Given the description of an element on the screen output the (x, y) to click on. 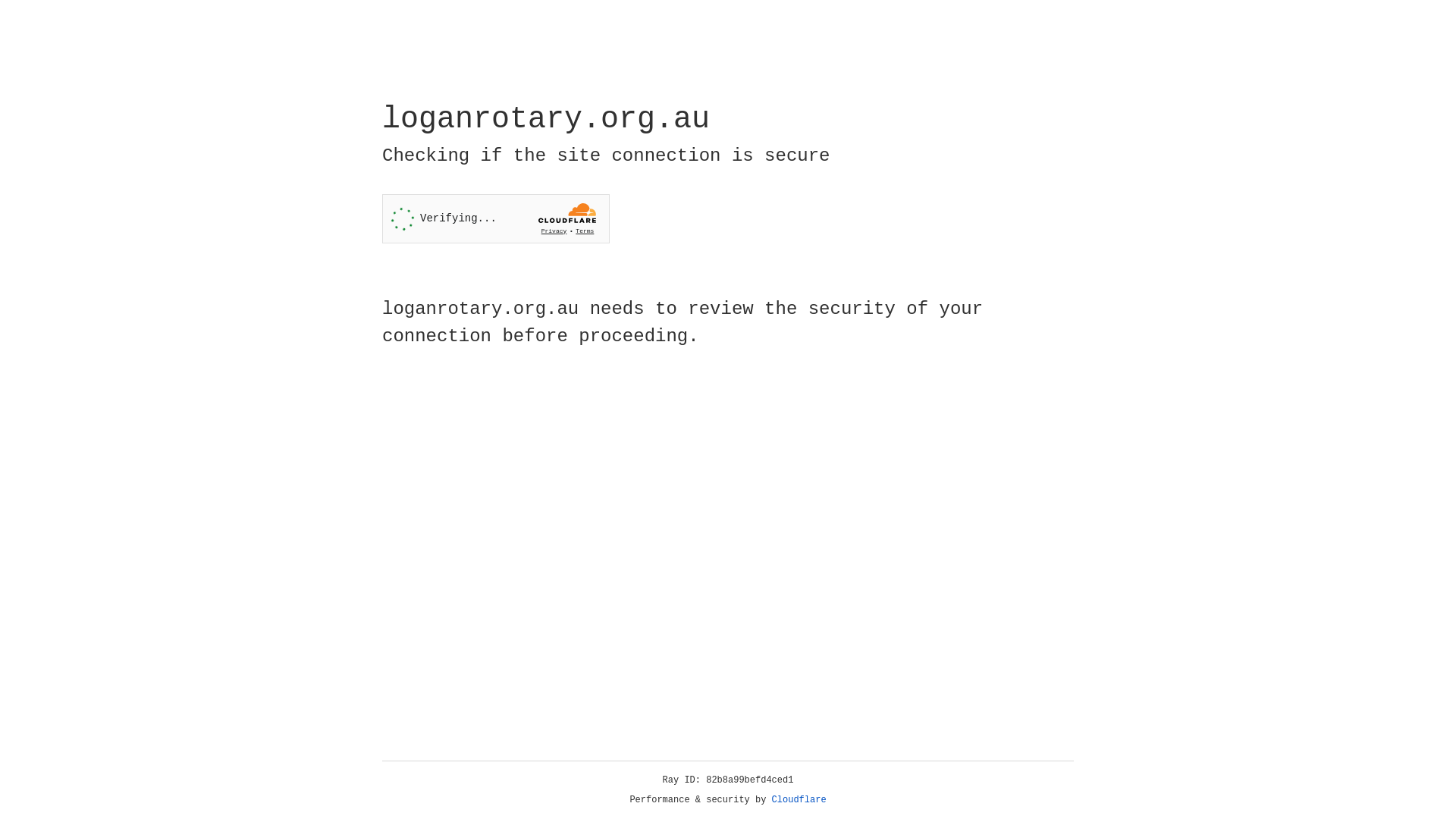
Widget containing a Cloudflare security challenge Element type: hover (495, 218)
Cloudflare Element type: text (798, 799)
